Given the description of an element on the screen output the (x, y) to click on. 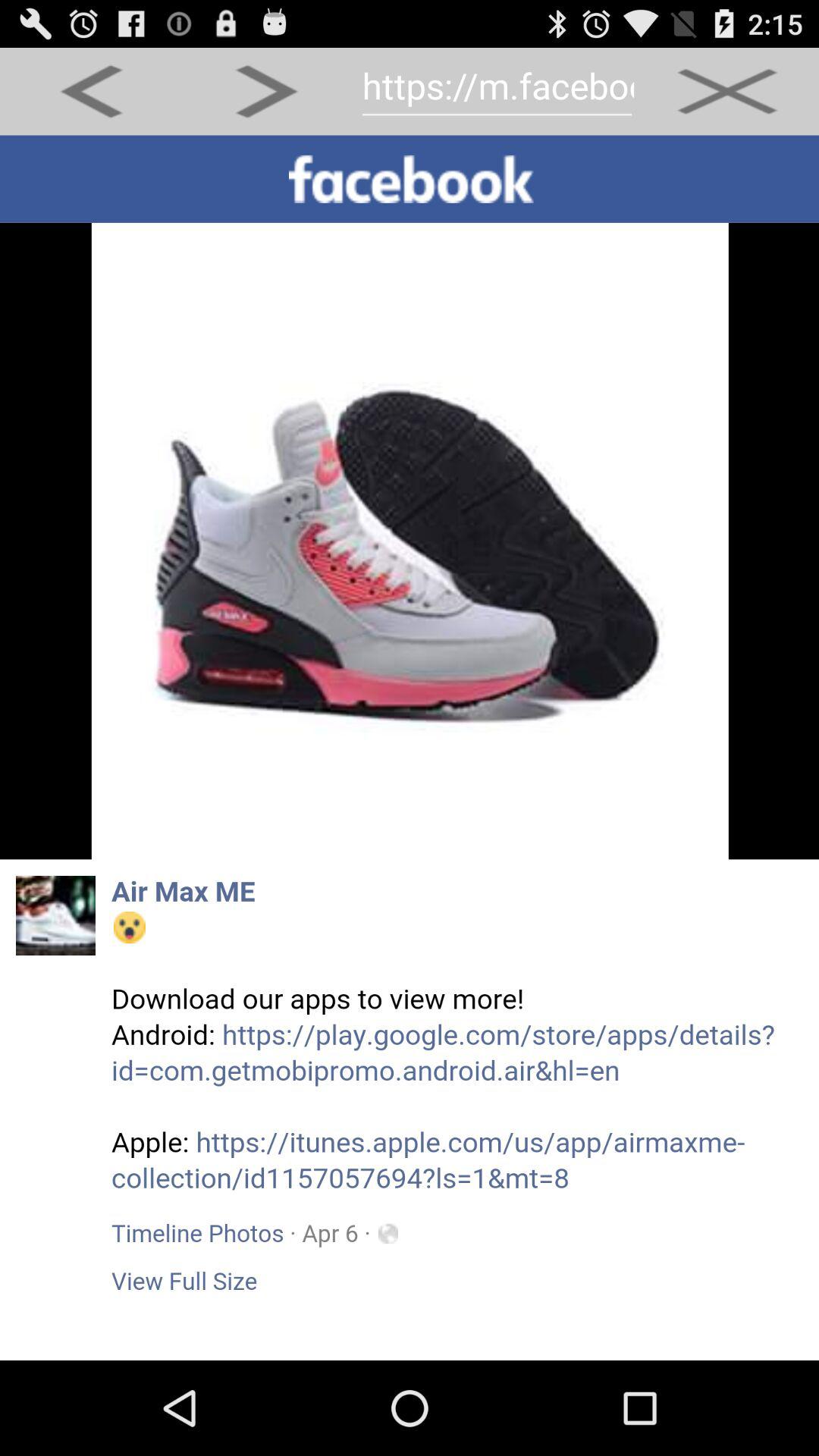
shose (409, 747)
